Given the description of an element on the screen output the (x, y) to click on. 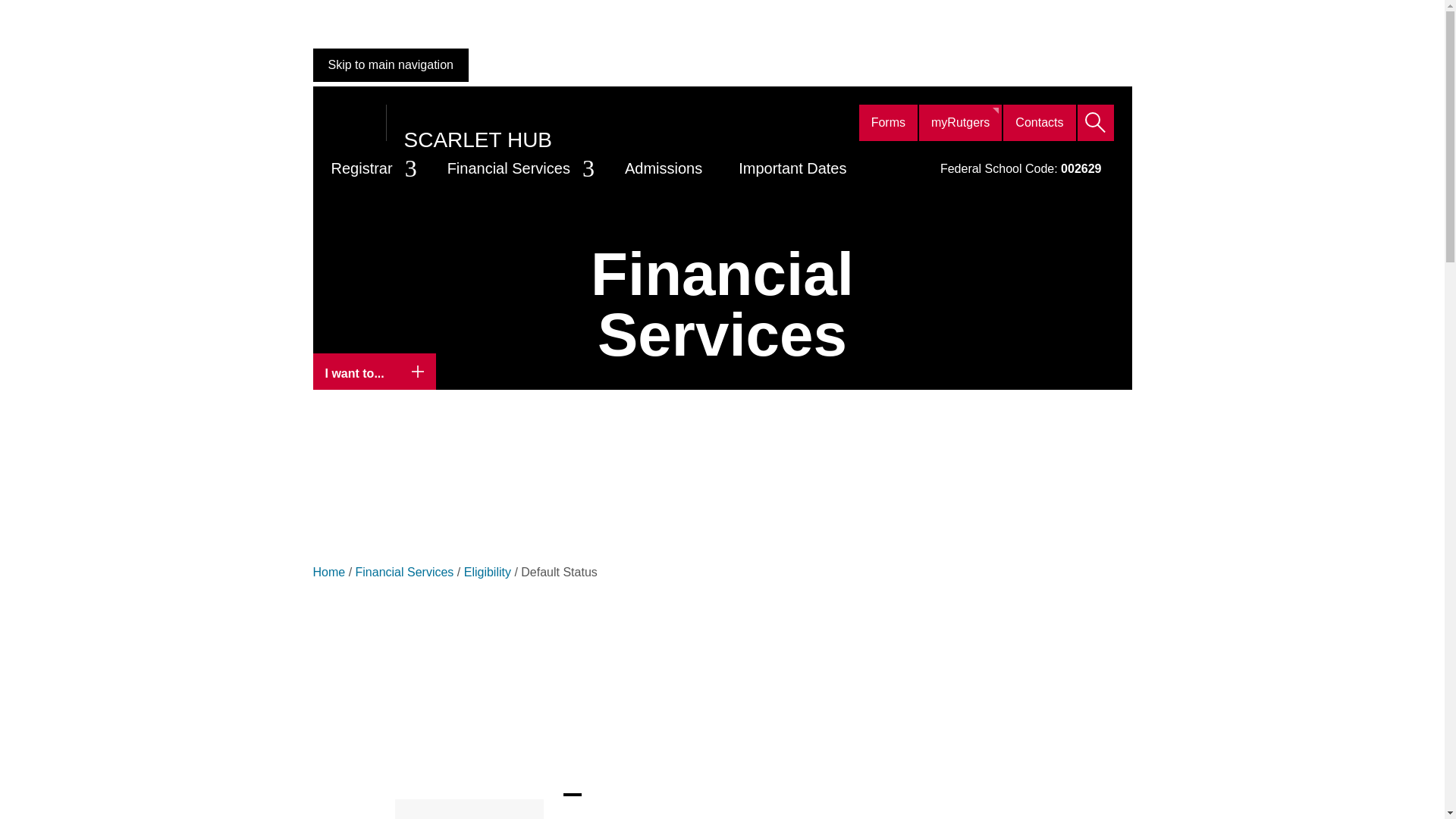
Skip to main navigation (390, 64)
Skip to search (366, 64)
Visit Rutgers University Homepage (349, 122)
Skip to content (368, 64)
SCARLET HUB (477, 139)
Registrar (370, 168)
Rutgers (349, 122)
